Given the description of an element on the screen output the (x, y) to click on. 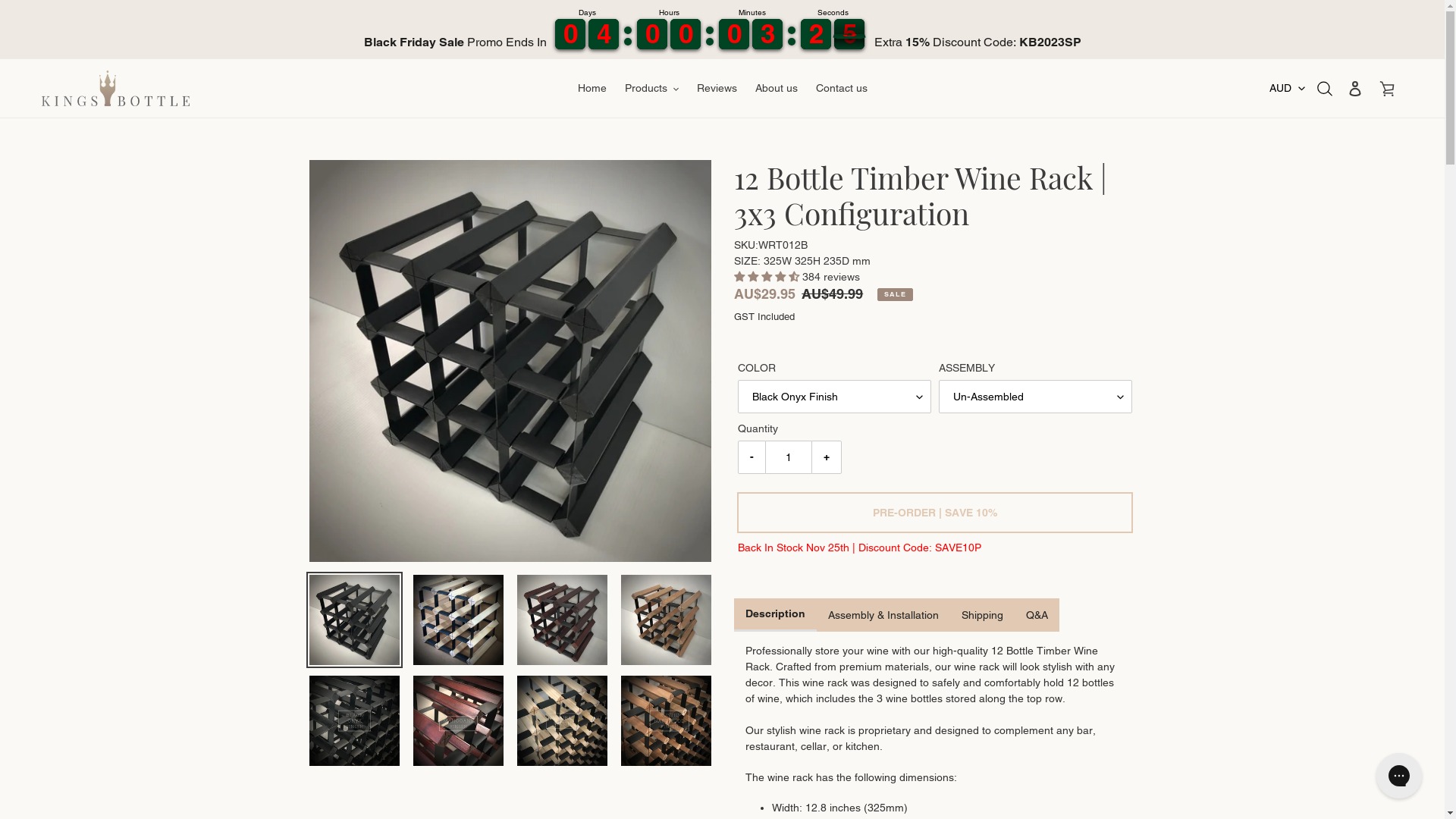
Gorgias live chat messenger Element type: hover (1398, 775)
4 Element type: text (815, 33)
Products Element type: text (651, 88)
Reviews Element type: text (715, 88)
Search Element type: text (1325, 88)
9
9 Element type: text (570, 33)
9
9 Element type: text (652, 33)
4 Element type: text (767, 33)
9
9 Element type: text (733, 33)
Home Element type: text (592, 88)
PRE-ORDER | SAVE 10% Element type: text (934, 512)
Log in Element type: text (1355, 87)
Contact us Element type: text (841, 88)
Cart Element type: text (1386, 87)
1 Element type: text (849, 33)
3
3 Element type: text (603, 33)
About us Element type: text (776, 88)
9
9 Element type: text (685, 33)
